Given the description of an element on the screen output the (x, y) to click on. 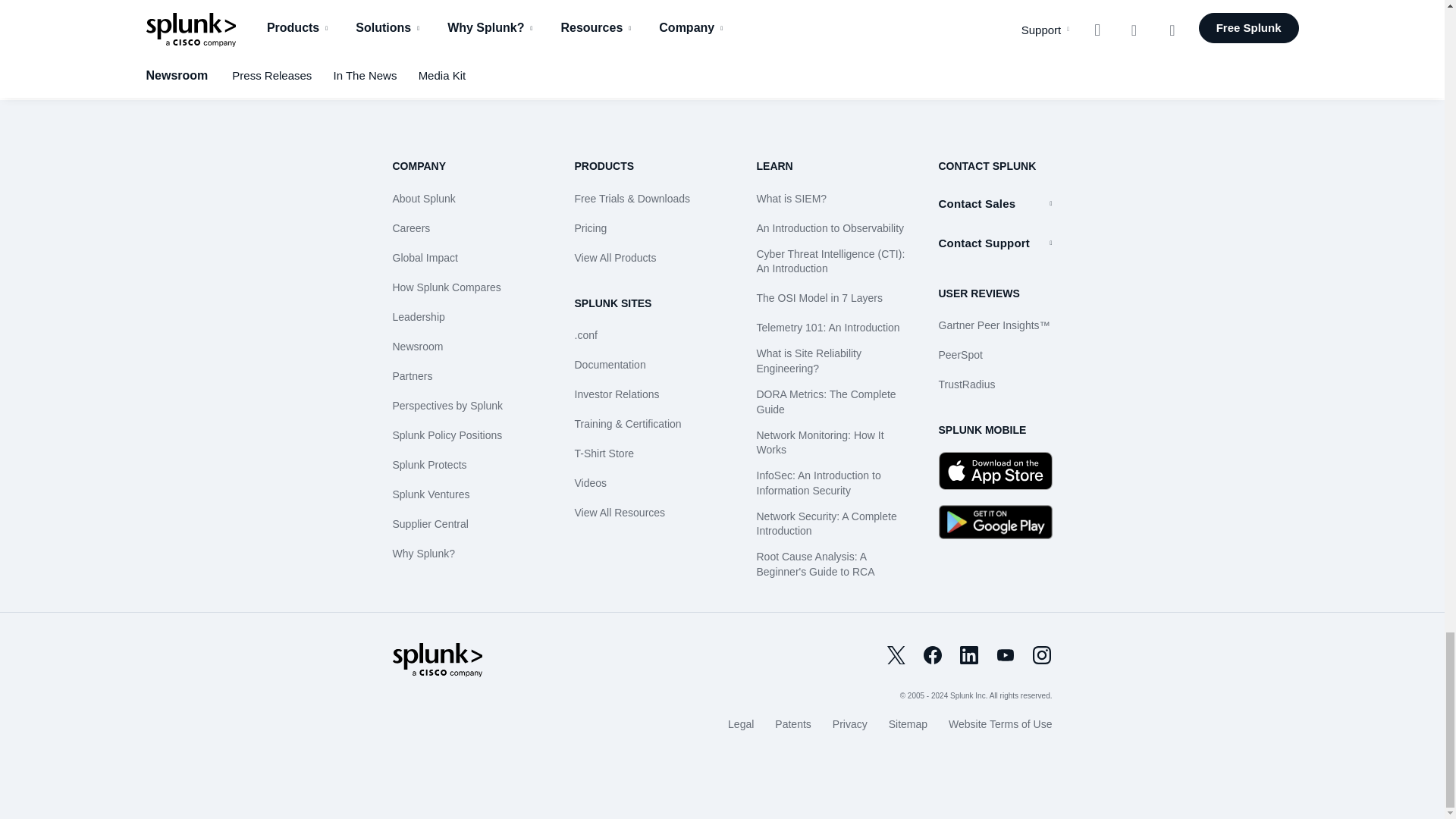
Linked In (968, 655)
Youtube (1004, 655)
Instagram (1041, 655)
Twitter (895, 655)
Facebook (932, 655)
